Given the description of an element on the screen output the (x, y) to click on. 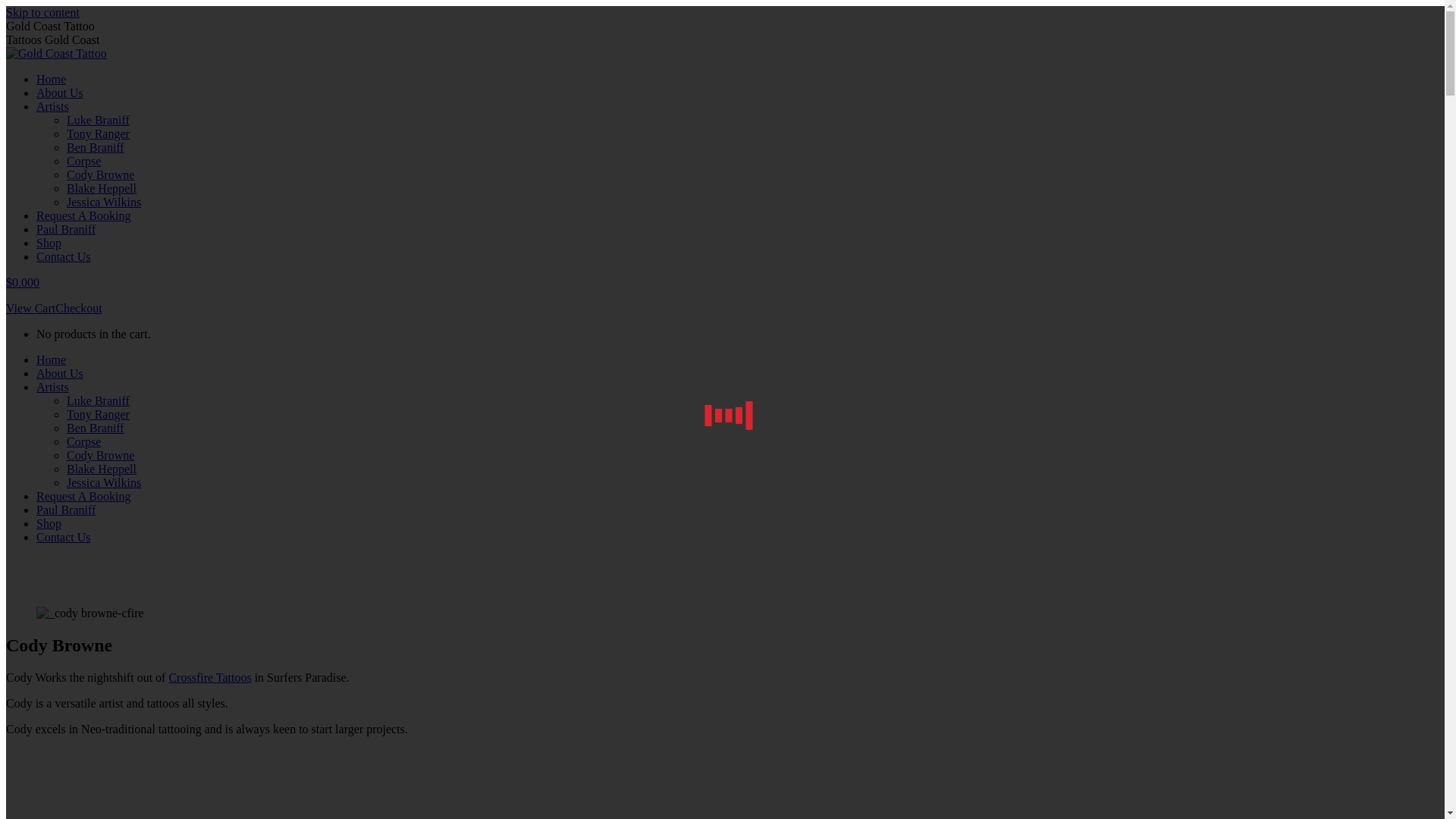
Jessica Wilkins Element type: text (103, 482)
Contact Us Element type: text (63, 536)
About Us Element type: text (59, 373)
$0.000 Element type: text (22, 282)
Follow on Instagram Element type: text (60, 754)
Cody Browne Element type: text (100, 174)
Crossfire Tattoos Element type: text (209, 677)
Contact Us Element type: text (63, 256)
About Us Element type: text (59, 92)
Cody Browne Element type: text (100, 454)
Luke Braniff Element type: text (97, 400)
Luke Braniff Element type: text (97, 119)
Request A Booking Element type: text (83, 495)
_cody browne-cfire Element type: hover (90, 613)
Corpse Element type: text (83, 441)
View Cart Element type: text (30, 307)
Jessica Wilkins Element type: text (103, 201)
Artists Element type: text (52, 106)
Ben Braniff Element type: text (95, 427)
Paul Braniff Element type: text (65, 509)
Skip to content Element type: text (42, 12)
Blake Heppell Element type: text (101, 188)
Corpse Element type: text (83, 160)
Shop Element type: text (48, 523)
Ben Braniff Element type: text (95, 147)
Home Element type: text (50, 359)
Paul Braniff Element type: text (65, 228)
Artists Element type: text (52, 386)
Tony Ranger Element type: text (97, 413)
Home Element type: text (50, 78)
Request A Booking Element type: text (83, 215)
Shop Element type: text (48, 242)
Tony Ranger Element type: text (97, 133)
Checkout Element type: text (78, 307)
Blake Heppell Element type: text (101, 468)
